Given the description of an element on the screen output the (x, y) to click on. 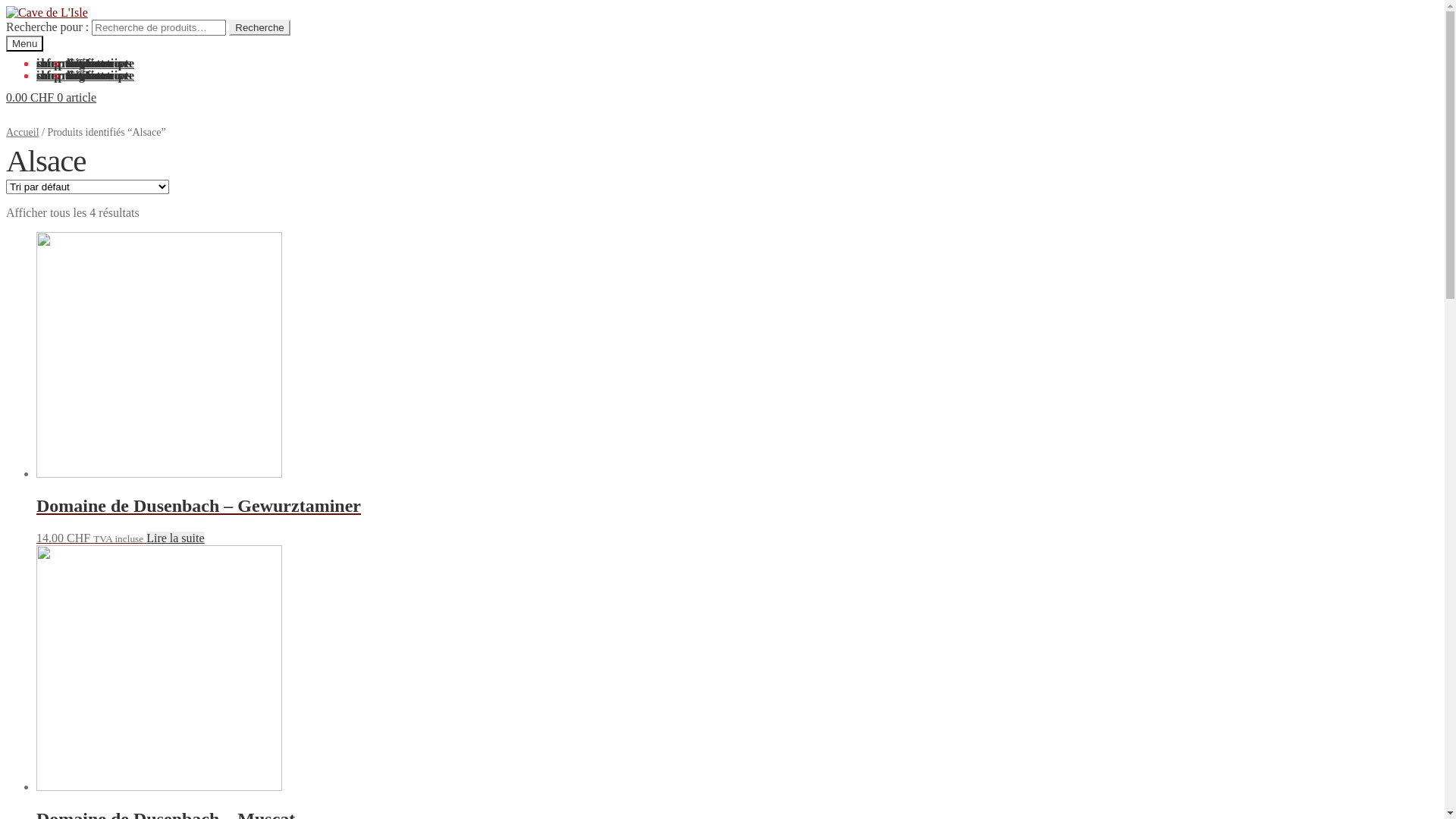
compte Element type: text (55, 62)
CGV Element type: text (80, 75)
votre compte Element type: text (100, 62)
compte Element type: text (55, 75)
Lire la suite Element type: text (174, 537)
Menu Element type: text (24, 43)
informations Element type: text (69, 62)
CGV Element type: text (80, 62)
Accueil Element type: text (22, 132)
shop Element type: text (48, 62)
horaires Element type: text (87, 75)
horaires Element type: text (87, 62)
informations Element type: text (69, 75)
Recherche Element type: text (259, 27)
vos favoris Element type: text (94, 75)
contact Element type: text (85, 75)
votre compte Element type: text (100, 75)
shop Element type: text (48, 75)
0.00 CHF 0 article Element type: text (51, 97)
contact Element type: text (85, 62)
vos favoris Element type: text (94, 62)
